Given the description of an element on the screen output the (x, y) to click on. 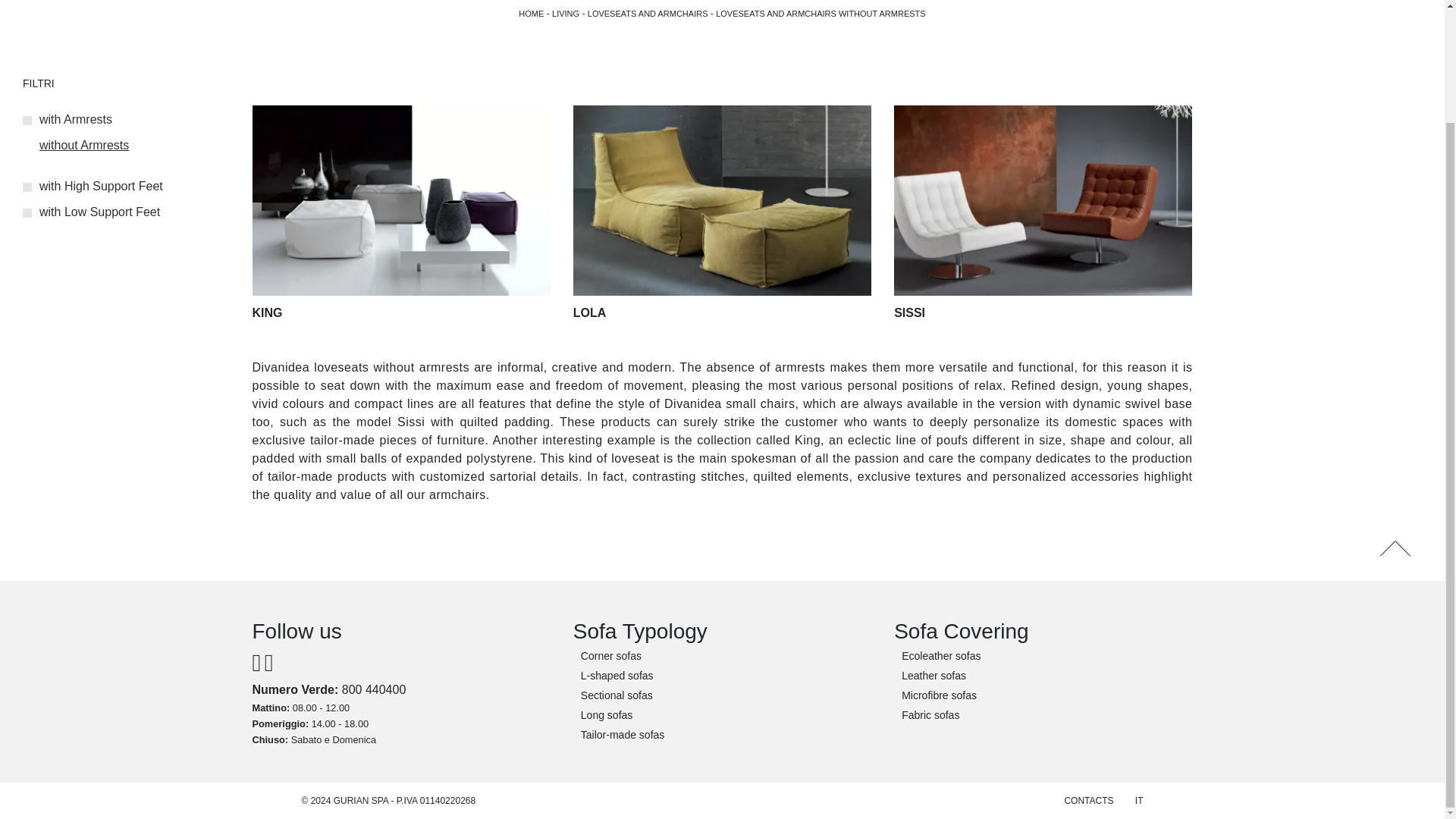
Loveseats and armchairs with Armrests (67, 119)
Sectional sofas (721, 695)
LIVING (565, 13)
LOLA (721, 212)
with Low Support Feet (91, 211)
divanidea (530, 13)
Loveseats and armchairs with High Support Feet (93, 185)
HOME (530, 13)
Loveseats and armchairs (647, 13)
800 440400 (374, 689)
